Given the description of an element on the screen output the (x, y) to click on. 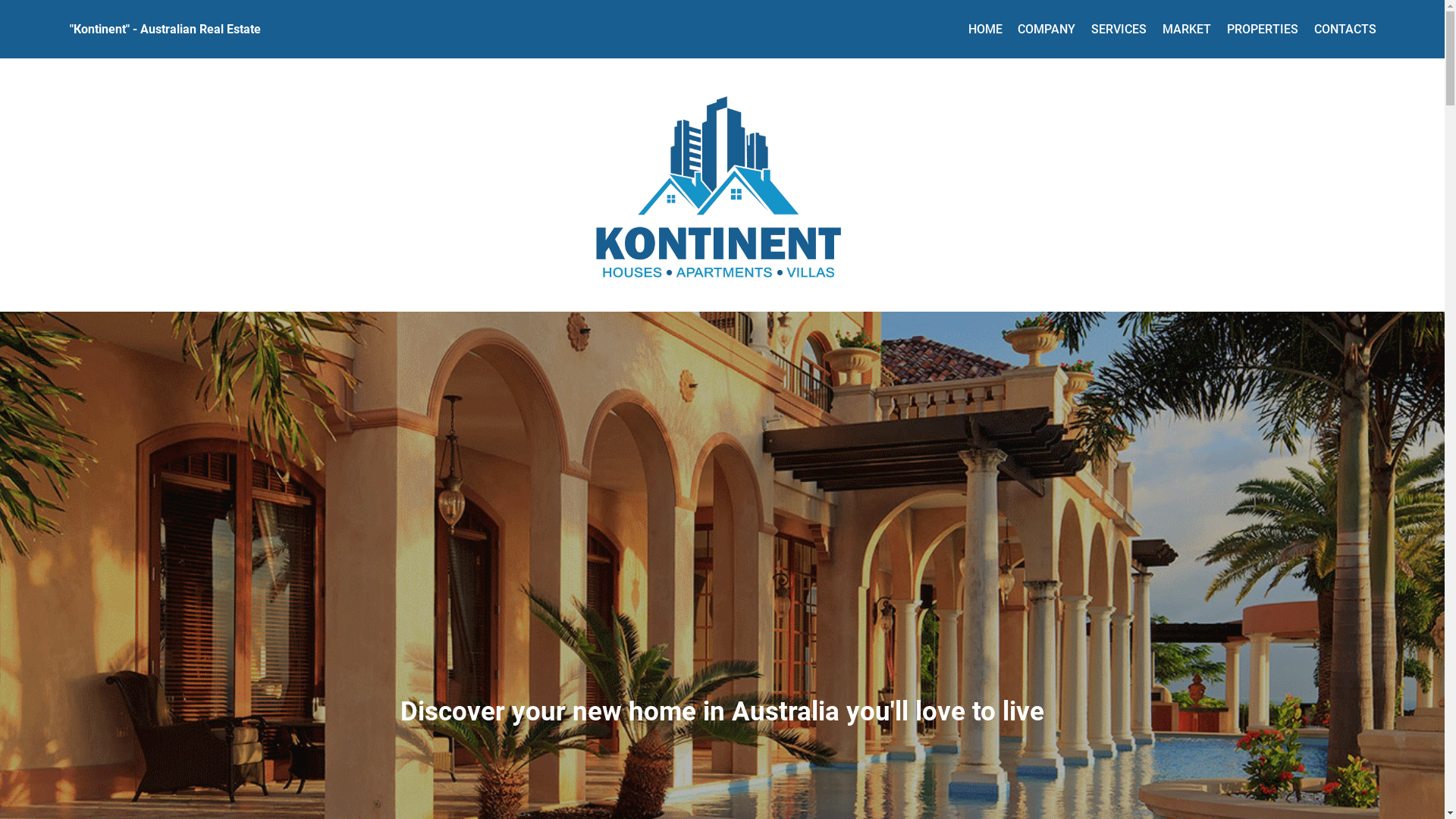
CONTACTS Element type: text (1345, 28)
SERVICES Element type: text (1118, 28)
MARKET Element type: text (1186, 28)
PROPERTIES Element type: text (1262, 28)
COMPANY Element type: text (1046, 28)
HOME Element type: text (985, 28)
